Given the description of an element on the screen output the (x, y) to click on. 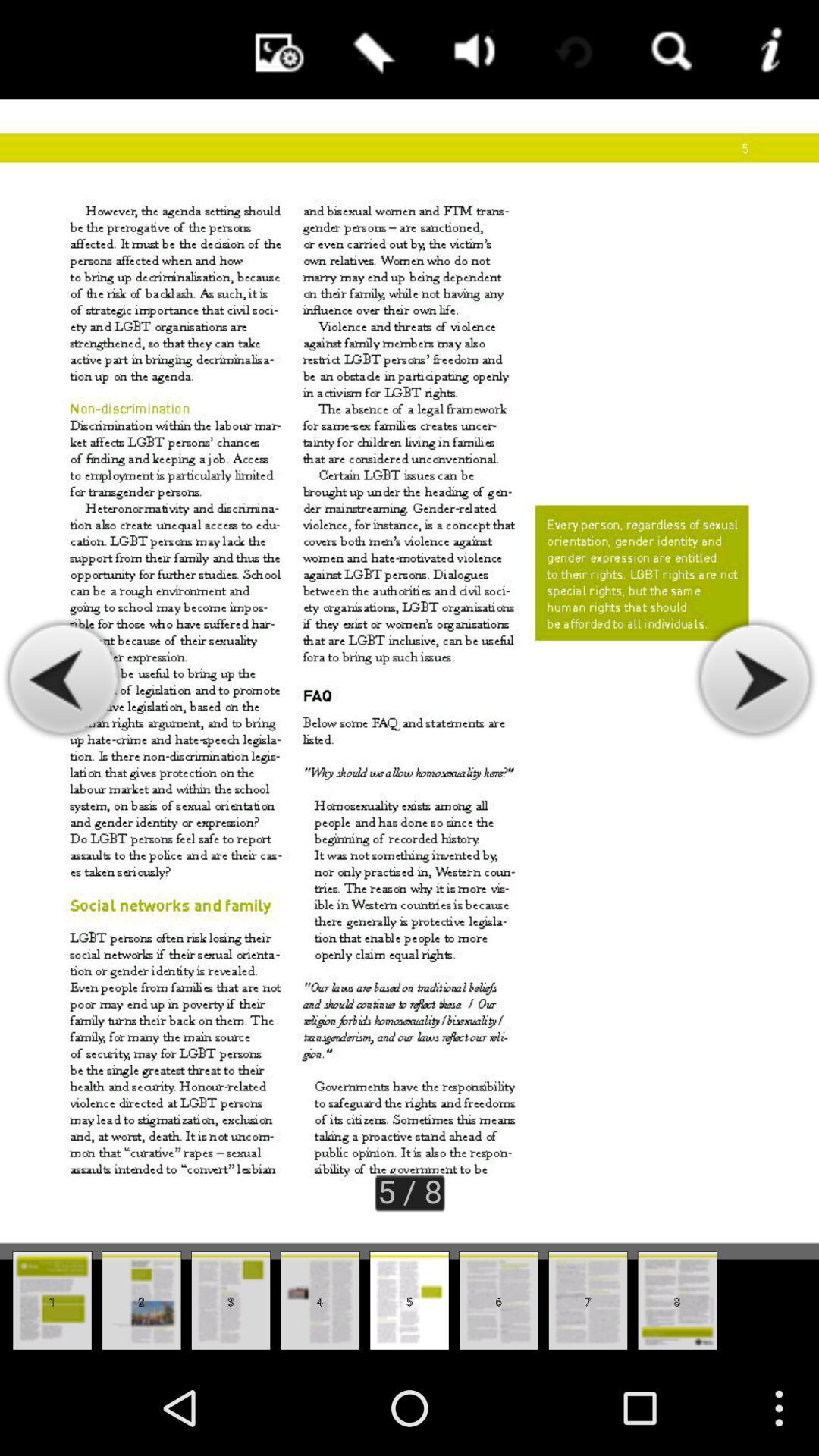
turn on 5 / 8 icon (409, 1191)
